Given the description of an element on the screen output the (x, y) to click on. 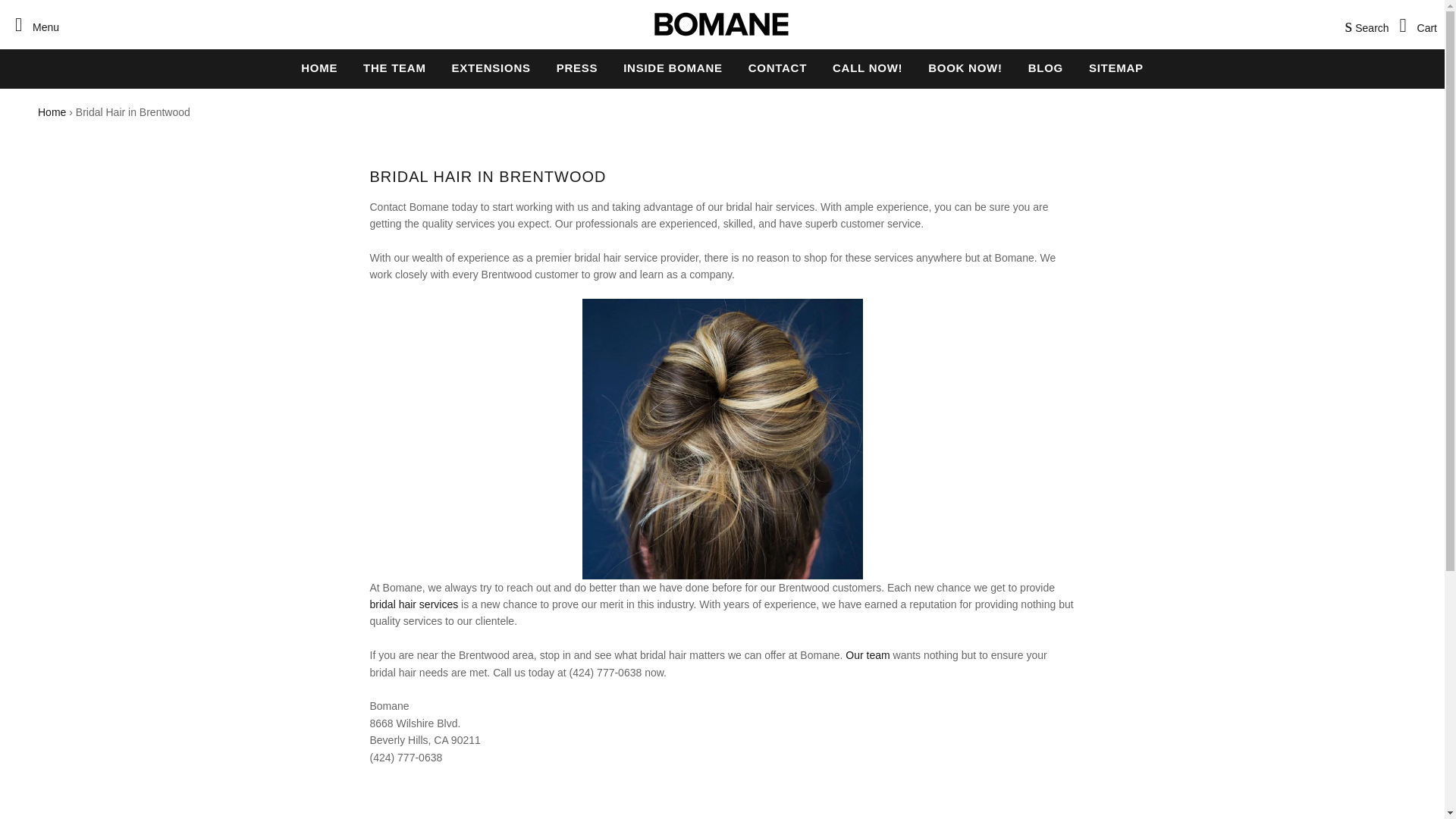
Menu (33, 24)
Our team (867, 654)
INSIDE BOMANE (672, 67)
PRESS (577, 67)
THE TEAM (395, 67)
BOOK NOW! (965, 67)
Home (51, 111)
CALL NOW! (867, 67)
HOME (319, 67)
bridal hair services (413, 604)
SITEMAP (1115, 67)
BLOG (1045, 67)
CONTACT (777, 67)
EXTENSIONS (491, 67)
Home (51, 111)
